Given the description of an element on the screen output the (x, y) to click on. 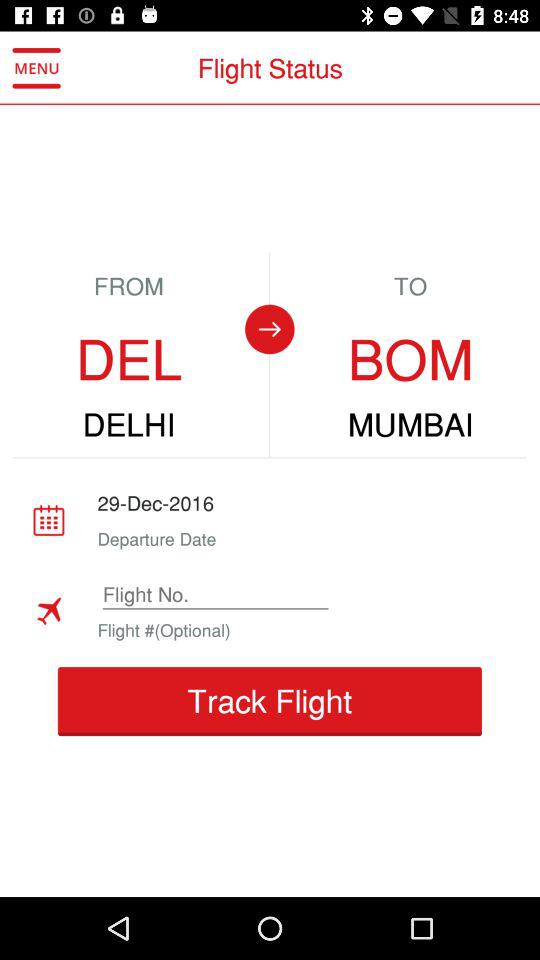
select the item below the from item (128, 359)
